Given the description of an element on the screen output the (x, y) to click on. 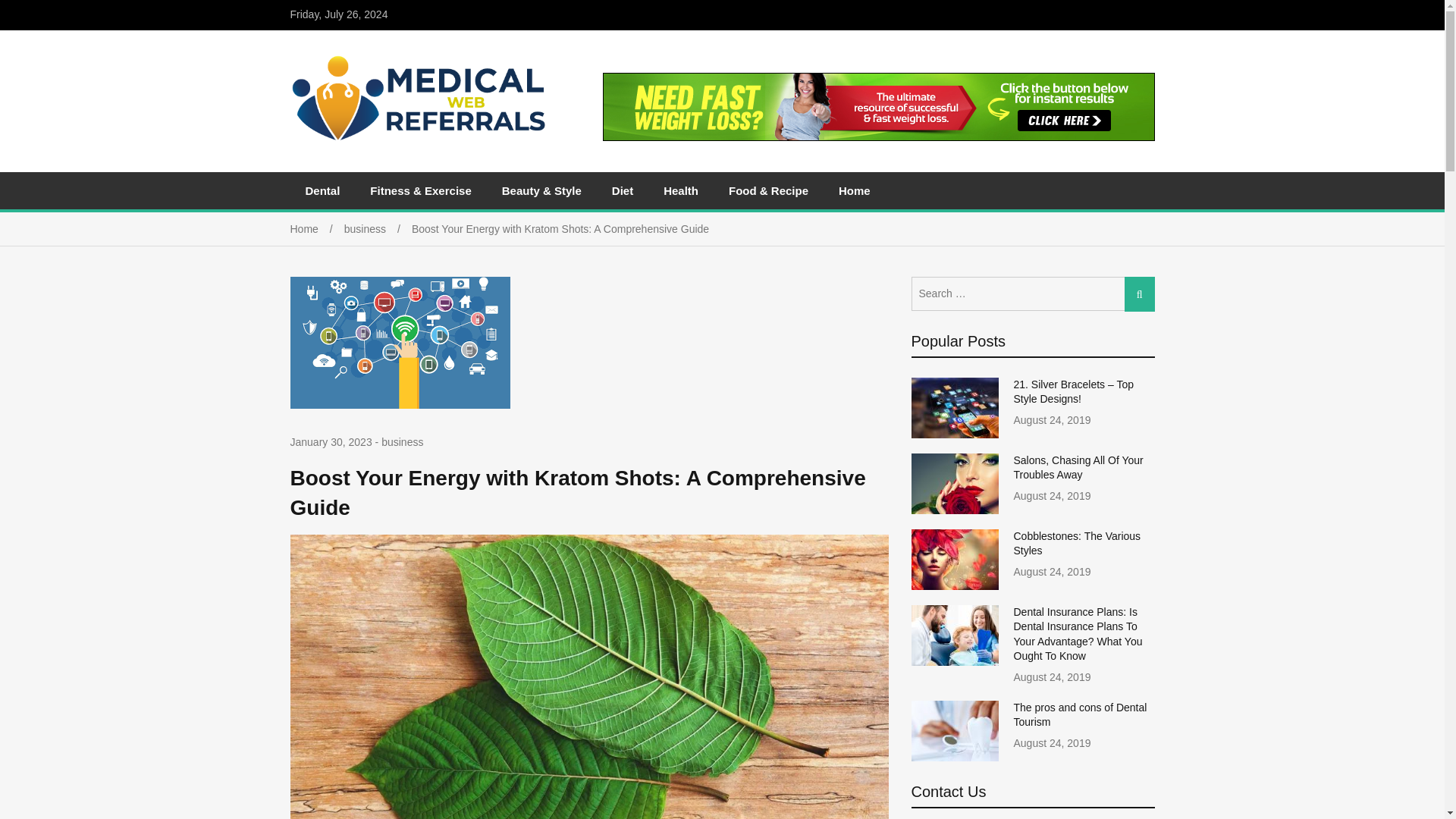
business (402, 441)
Dental (322, 190)
January 30, 2023 (330, 442)
Diet (621, 190)
business (377, 228)
Home (854, 190)
Home (316, 228)
Health (680, 190)
